Given the description of an element on the screen output the (x, y) to click on. 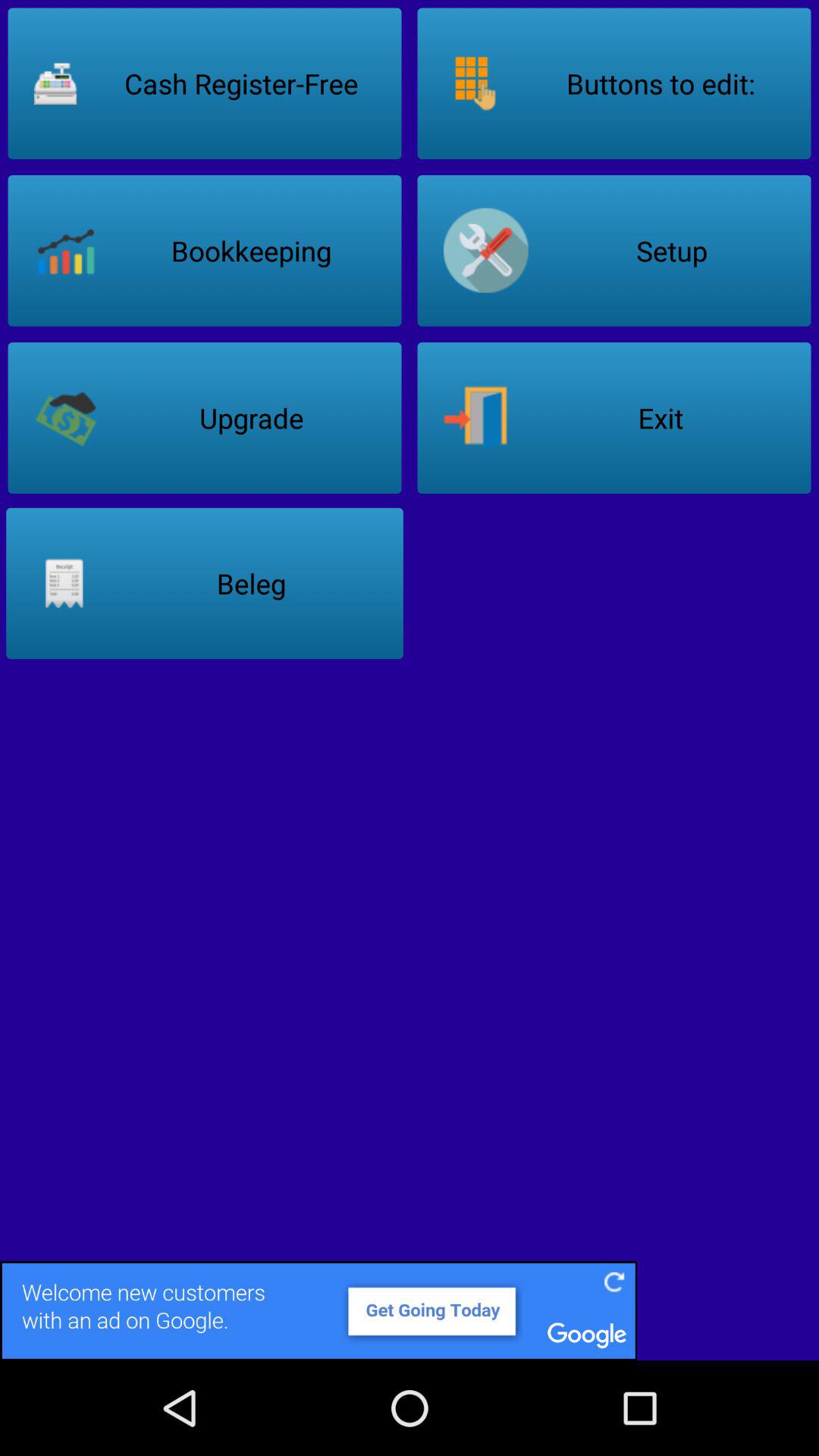
link to advertisement (409, 1310)
